Given the description of an element on the screen output the (x, y) to click on. 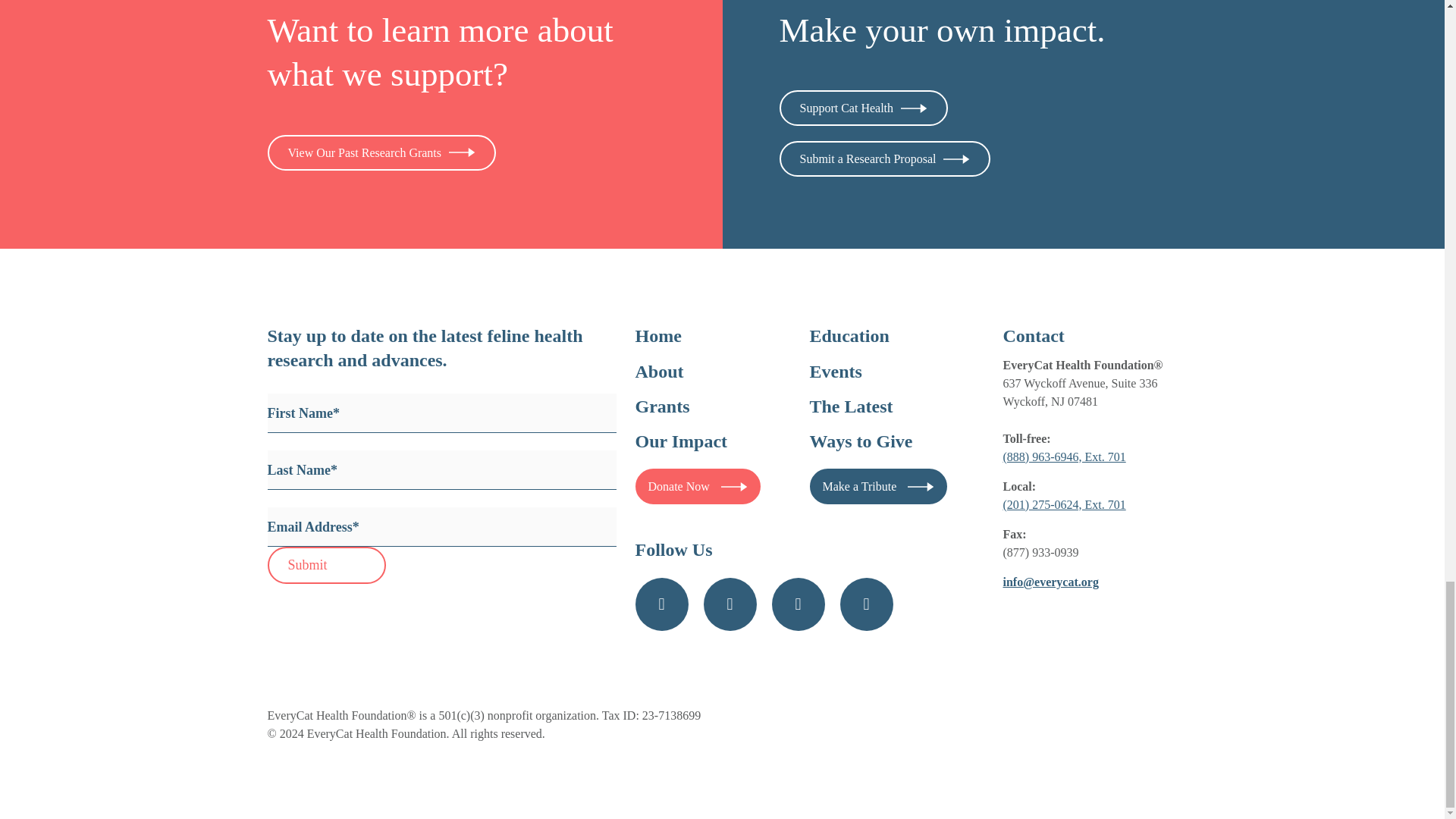
Link to View Our Past Research Grants (381, 152)
Link to Facebook (661, 604)
Link to Submit a Research Proposal (884, 158)
Link to Support Cat Health (863, 108)
Link to YouTube (798, 604)
Link to Instagram (730, 604)
